Given the description of an element on the screen output the (x, y) to click on. 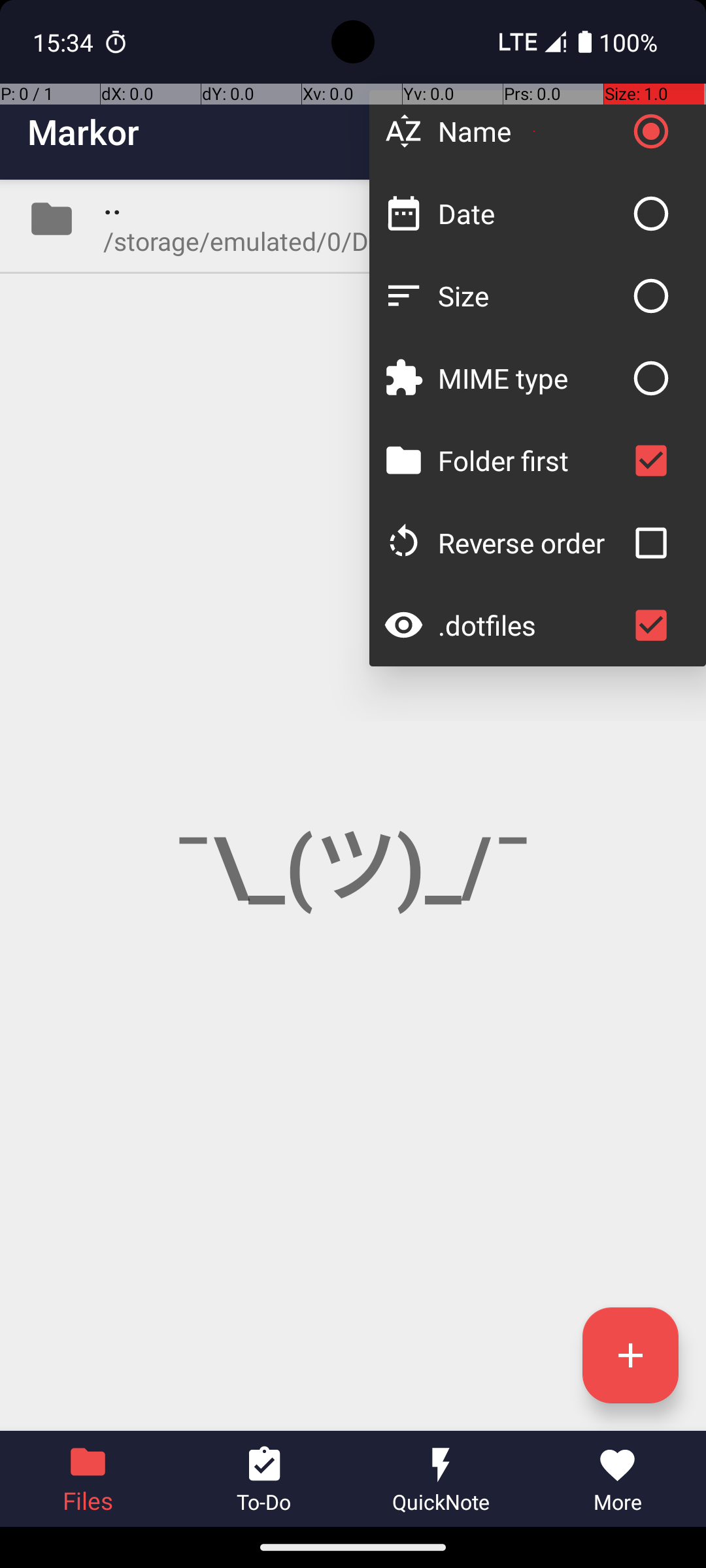
Size Element type: android.widget.TextView (530, 295)
MIME type Element type: android.widget.TextView (530, 377)
Folder first Element type: android.widget.TextView (530, 459)
Reverse order Element type: android.widget.TextView (530, 542)
.dotfiles Element type: android.widget.TextView (530, 624)
